Given the description of an element on the screen output the (x, y) to click on. 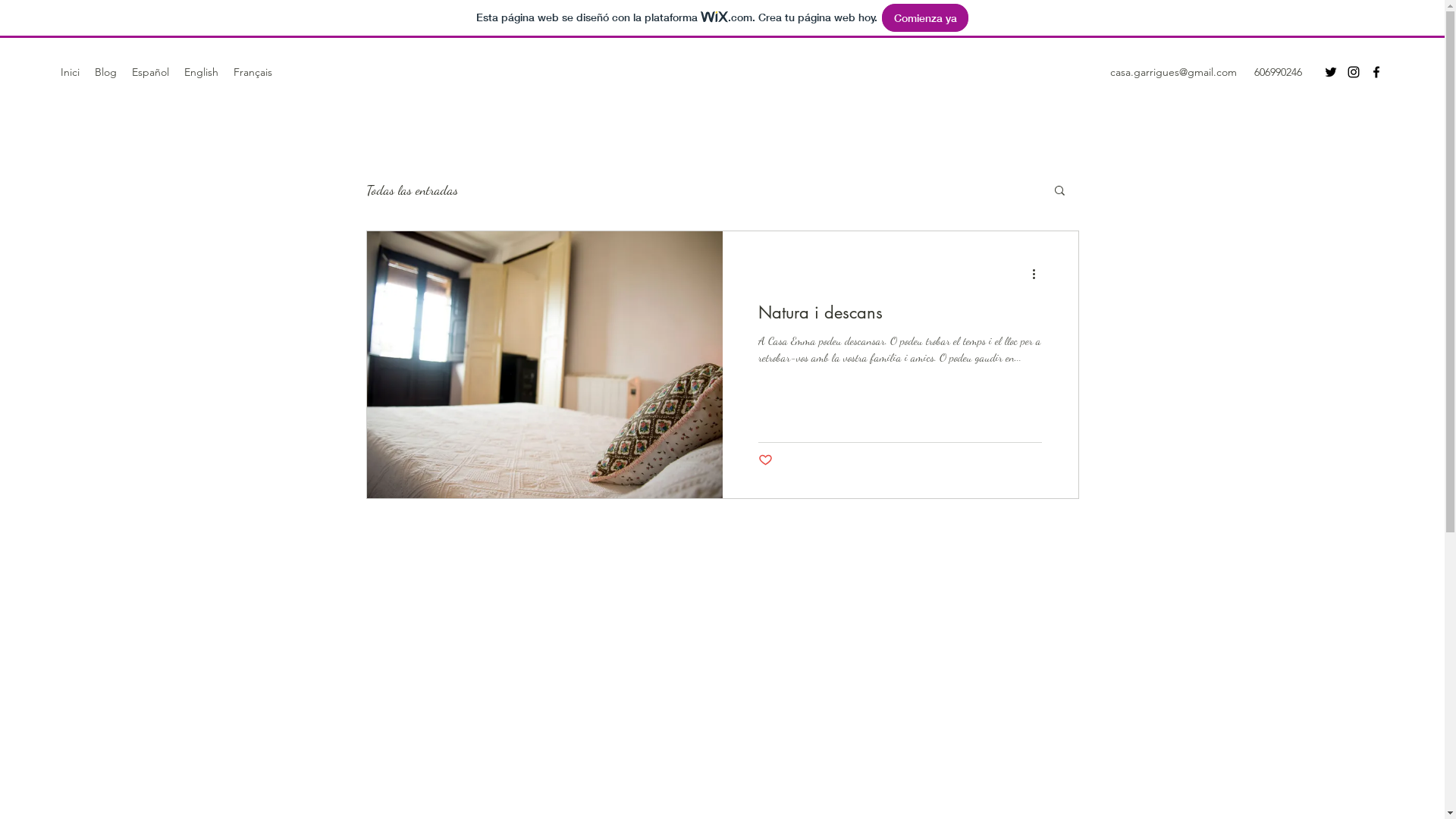
English Element type: text (200, 71)
casa.garrigues@gmail.com Element type: text (1173, 71)
Todas las entradas Element type: text (411, 189)
Blog Element type: text (105, 71)
Natura i descans Element type: text (899, 316)
Inici Element type: text (70, 71)
Entrada no marcada como Me Gusta Element type: text (765, 460)
